Given the description of an element on the screen output the (x, y) to click on. 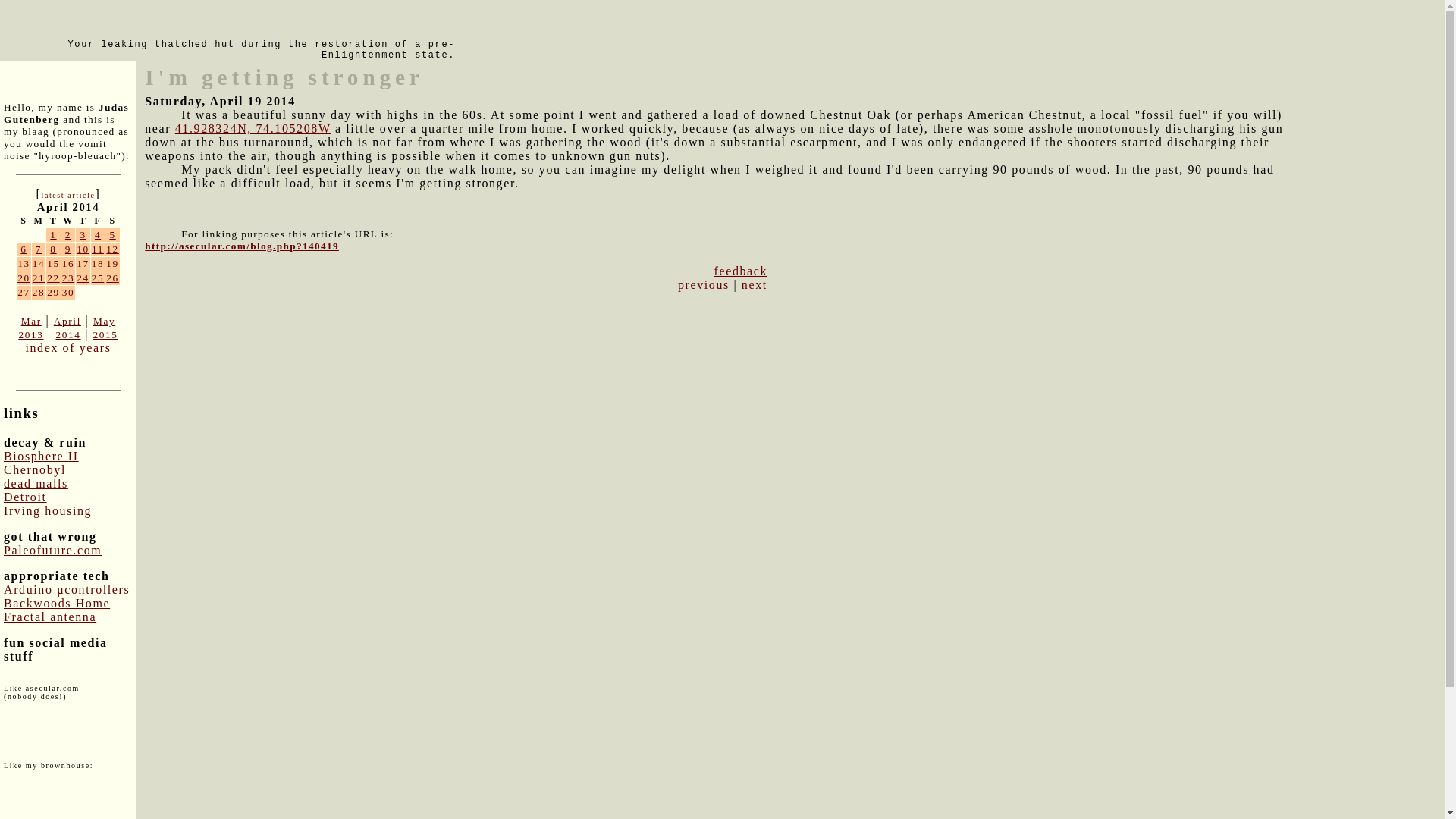
30 (68, 292)
17 (82, 263)
13 (23, 263)
24 (82, 277)
2015 (105, 334)
2013 (30, 334)
20 (23, 277)
index of years (67, 347)
15 (52, 263)
28 (38, 292)
21 (38, 277)
2014 (67, 334)
14 (38, 263)
27 (23, 292)
11 (97, 248)
